Given the description of an element on the screen output the (x, y) to click on. 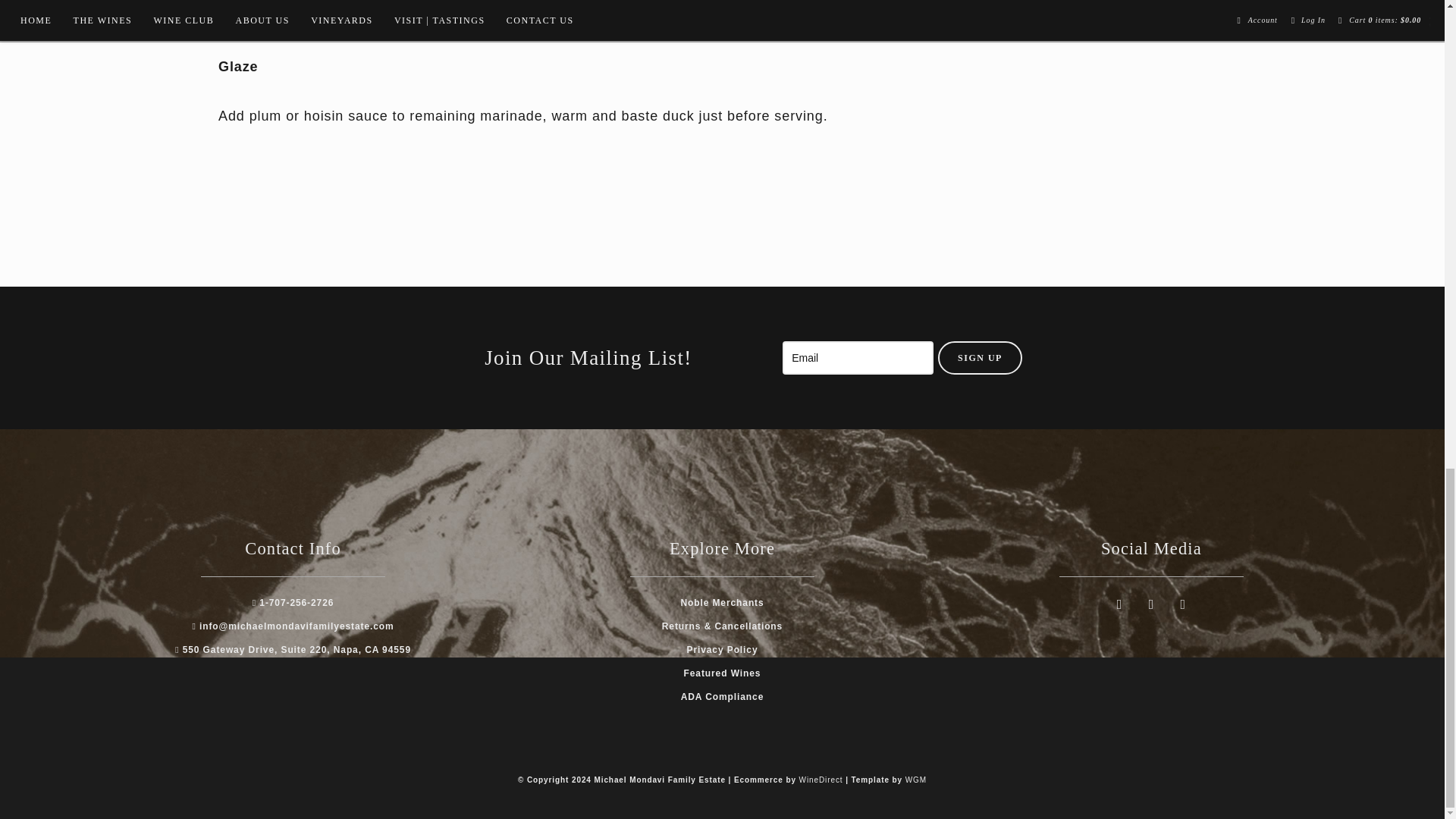
ADA Compliance (722, 696)
 1-707-256-2726 (292, 602)
Email (858, 357)
Noble Merchants (720, 602)
Privacy Policy (721, 649)
SIGN UP (979, 357)
Featured Wines (722, 673)
 550 Gateway Drive, Suite 220, Napa, CA 94559 (292, 649)
